Given the description of an element on the screen output the (x, y) to click on. 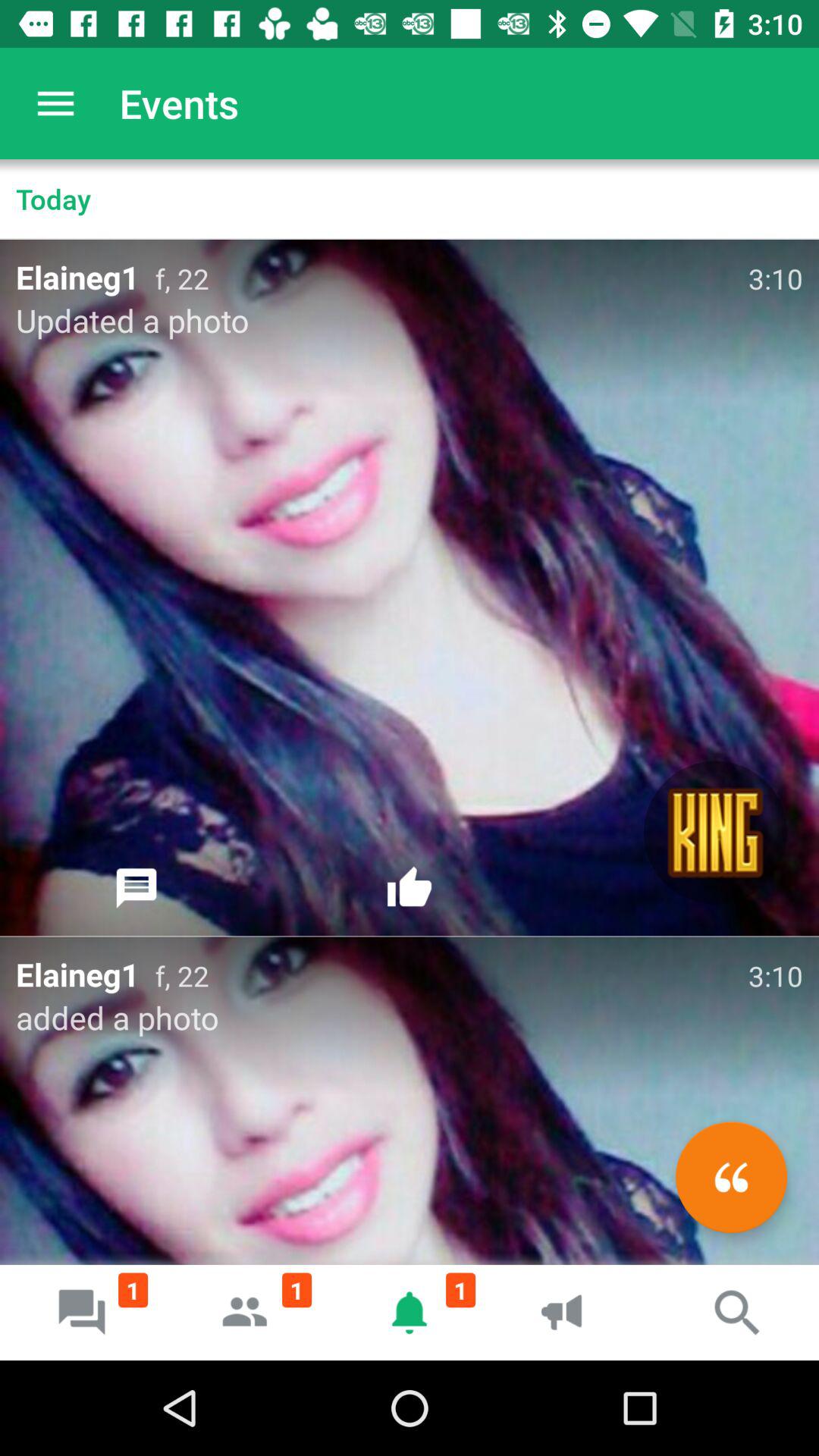
select app next to events app (55, 103)
